Given the description of an element on the screen output the (x, y) to click on. 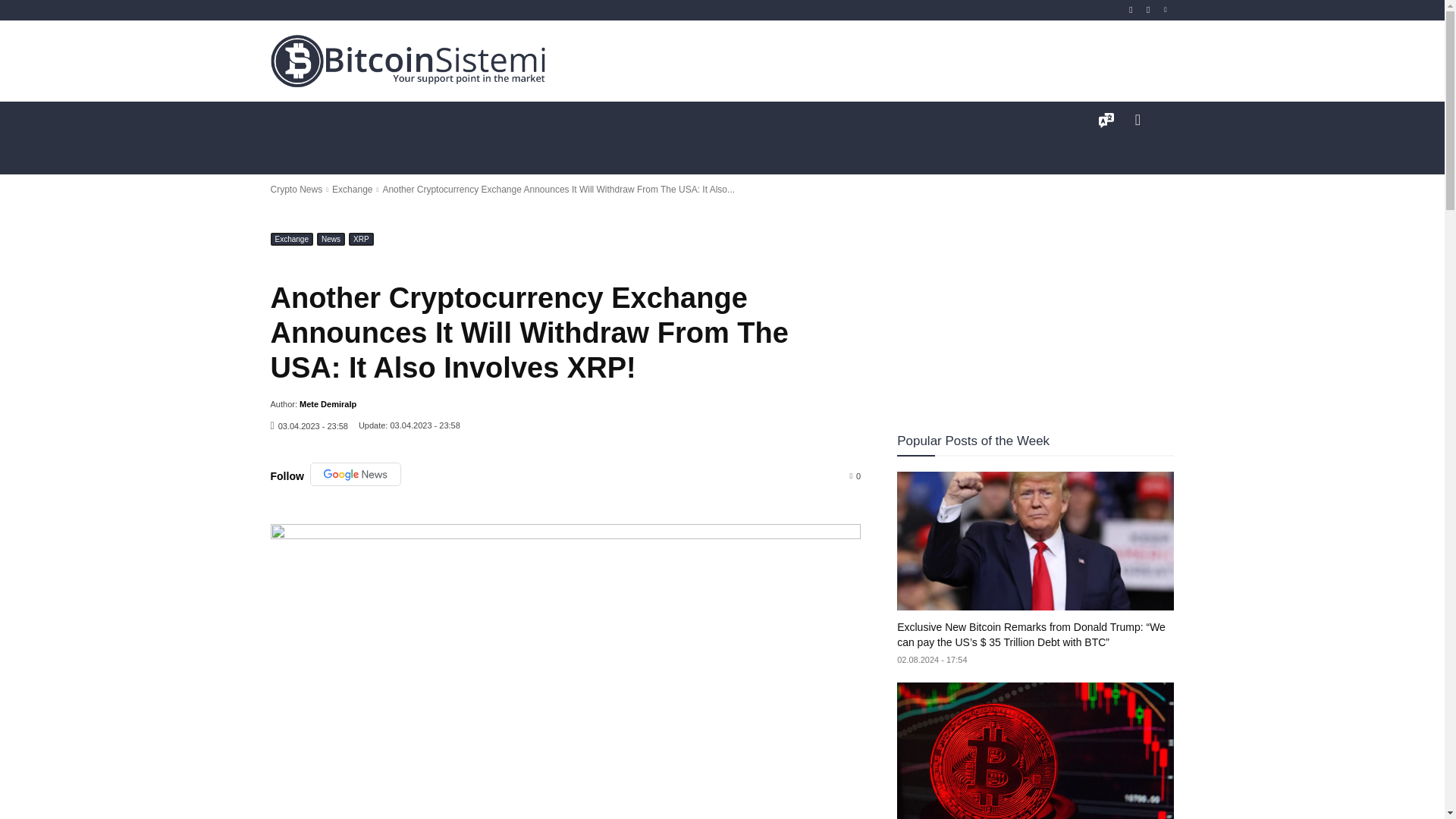
RSS (1131, 9)
Twitter (1165, 9)
View all posts in Exchange (351, 189)
Bitcoin Sistemi (408, 61)
Telegram (1148, 9)
